Given the description of an element on the screen output the (x, y) to click on. 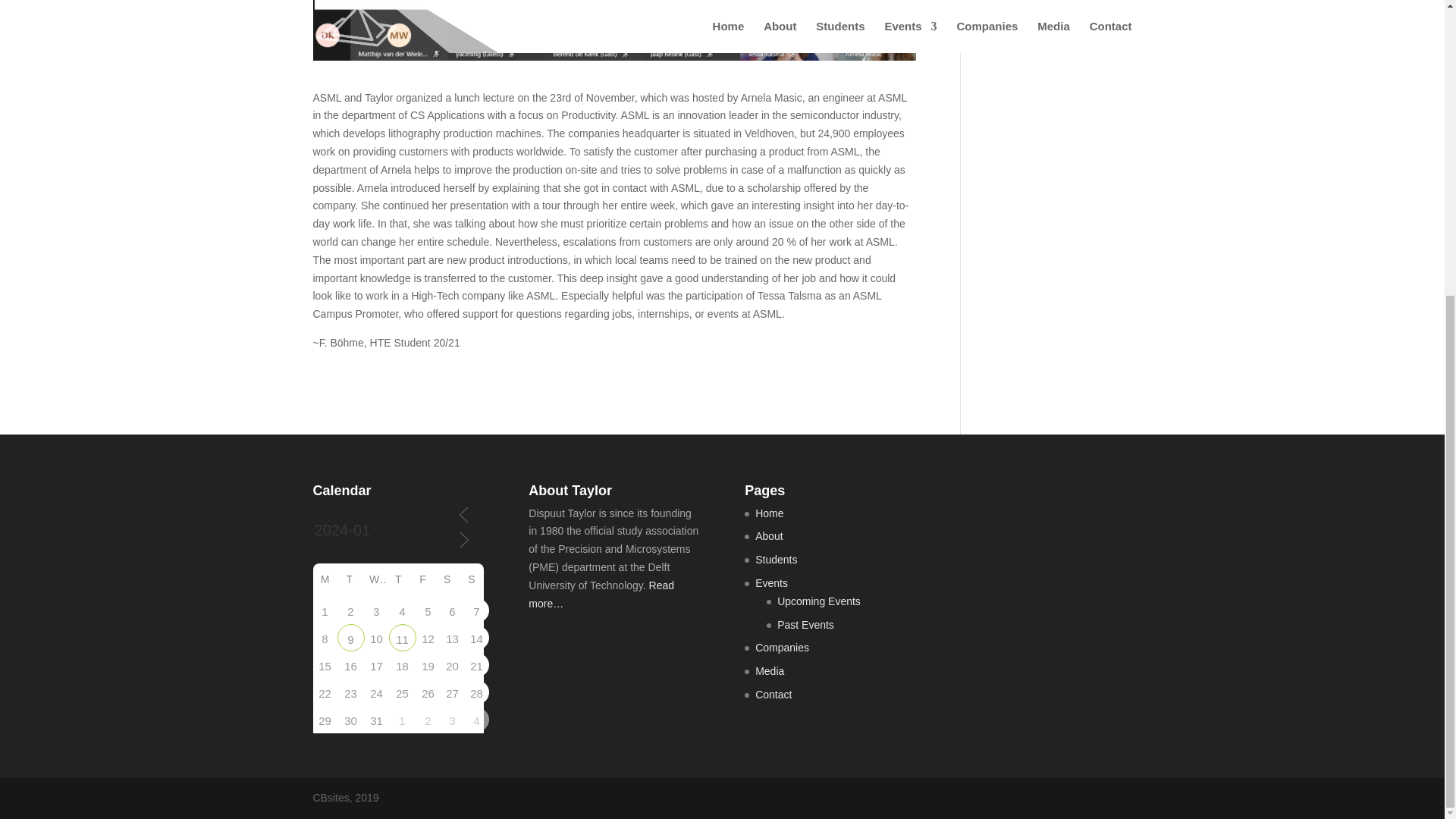
Hittech Company Visit (349, 637)
2024-01 (379, 529)
Settels Savenije lunch lecture (401, 637)
